Given the description of an element on the screen output the (x, y) to click on. 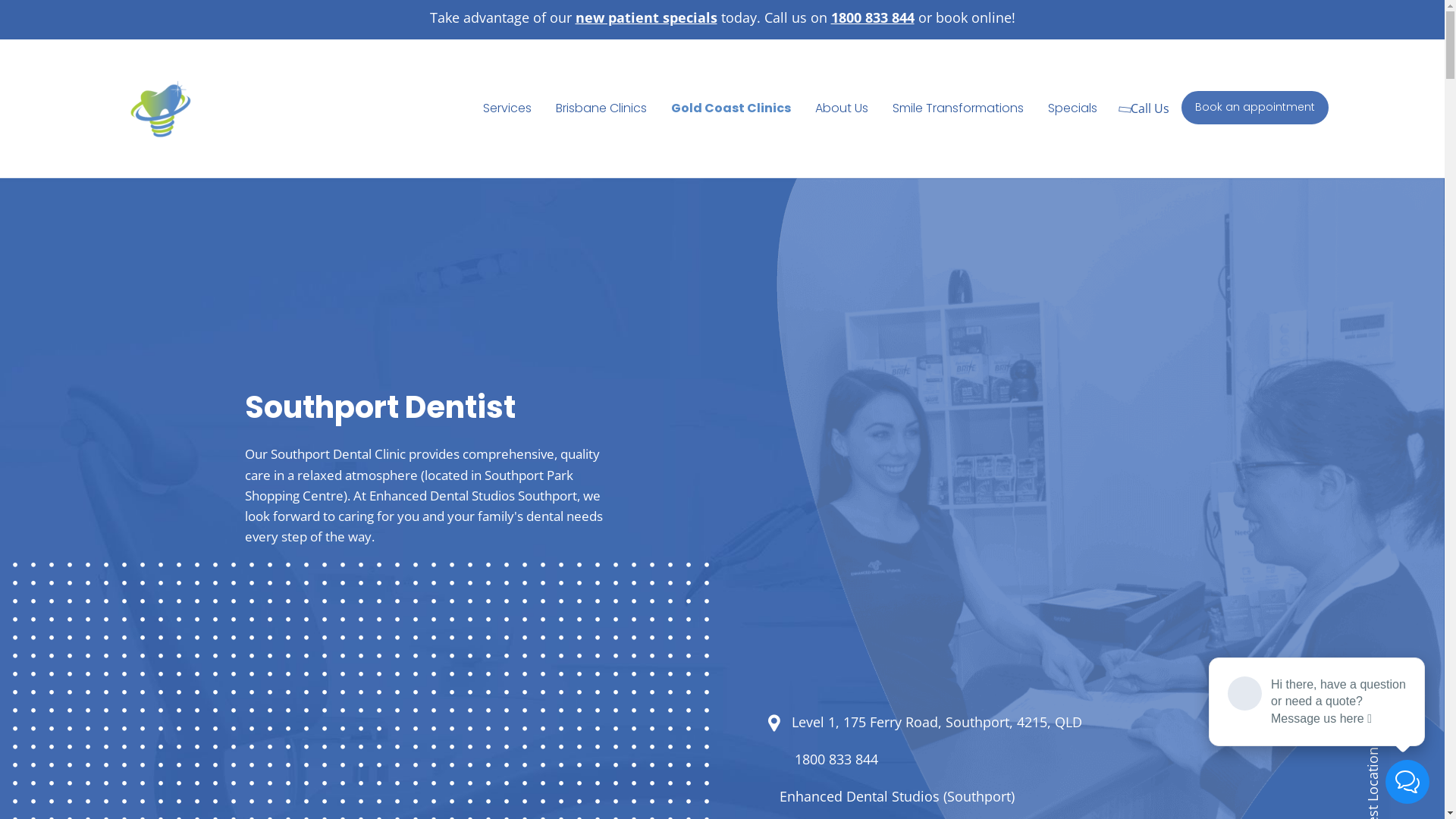
Call Us Element type: text (1145, 108)
1800 833 844 Element type: text (836, 759)
Brisbane Clinics Element type: text (600, 108)
Call us on 1800 833 844 Element type: text (836, 17)
Gold Coast Clinics Element type: text (730, 108)
About Us Element type: text (841, 108)
or book online! Element type: text (964, 17)
Take advantage of our new patient specials today. Element type: text (594, 17)
Smile Transformations Element type: text (957, 108)
Enhanced Dental Studios (Southport) Element type: text (896, 796)
Book an appointment Element type: text (1254, 107)
Services Element type: text (506, 108)
Submit Element type: text (580, 481)
Specials Element type: text (1072, 108)
